Given the description of an element on the screen output the (x, y) to click on. 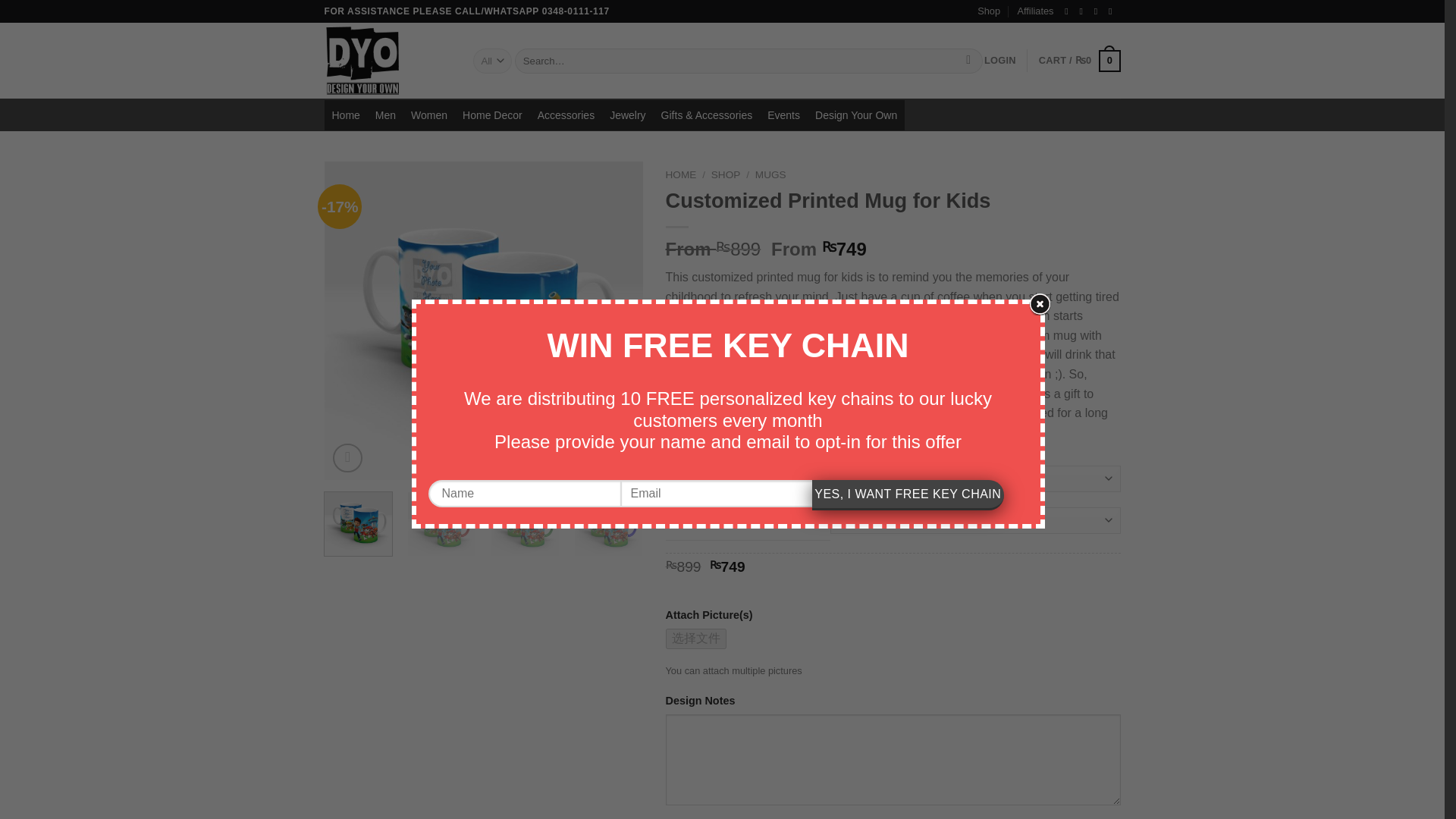
Yes, I want FREE key chain (908, 494)
Shop (988, 11)
Cart (1080, 61)
Men (385, 114)
Yes, I want FREE key chain (908, 494)
Women (428, 114)
Home Decor (491, 114)
Home (346, 114)
Search (968, 61)
LOGIN (1000, 60)
Affiliates (1034, 11)
Customized Printed Mug for Kids (483, 320)
